Given the description of an element on the screen output the (x, y) to click on. 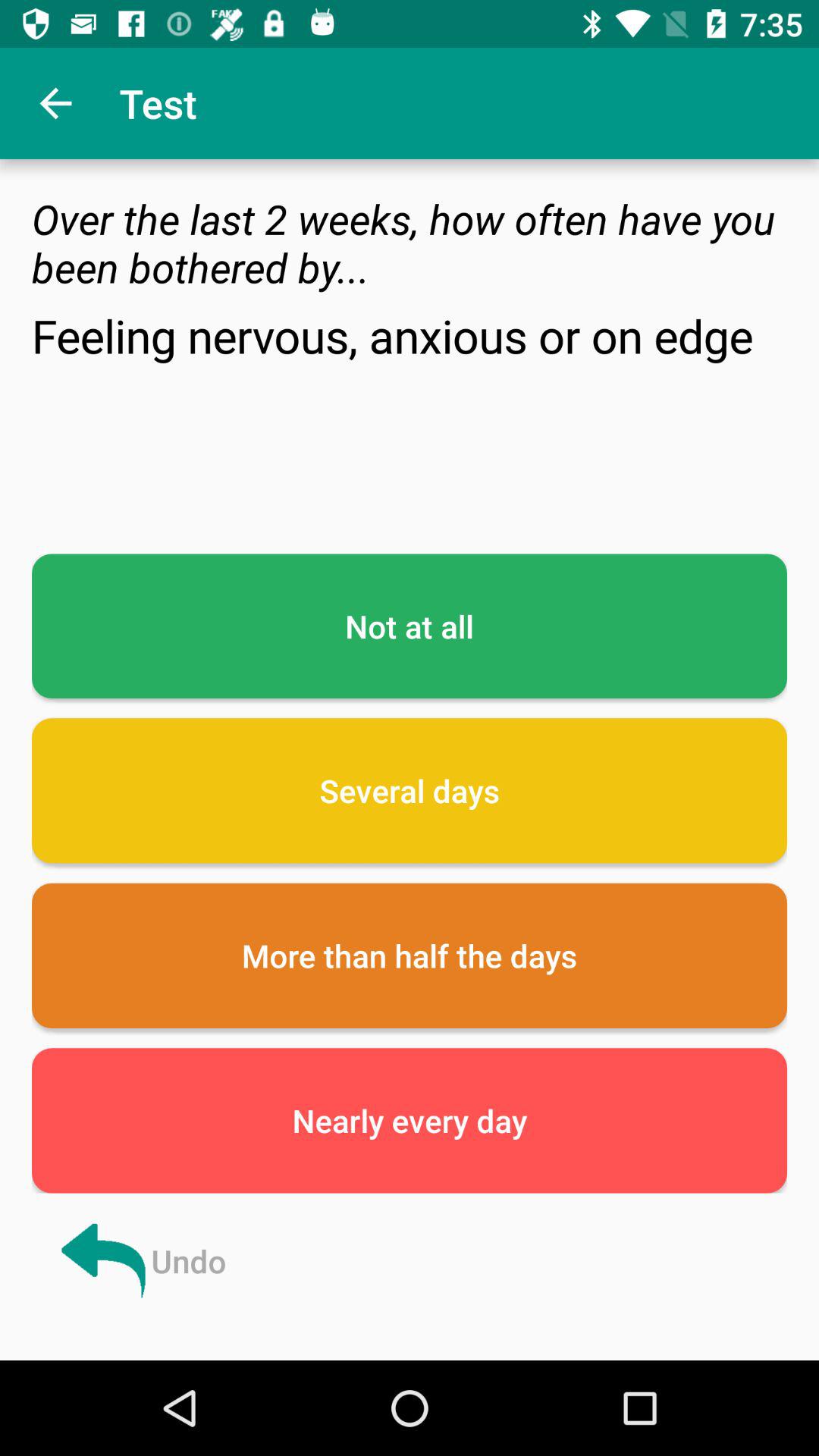
click undo icon (140, 1260)
